Given the description of an element on the screen output the (x, y) to click on. 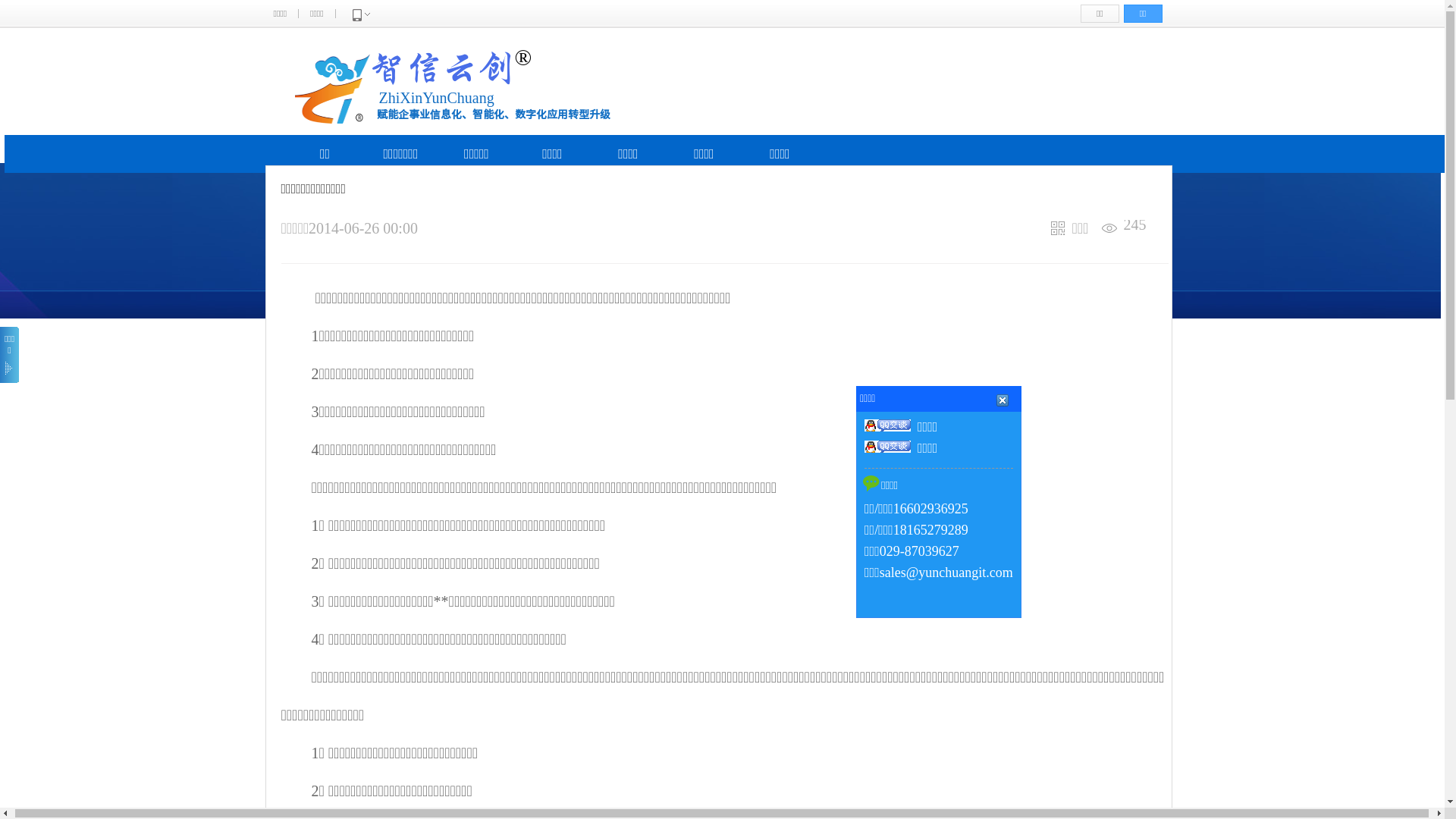
  Element type: text (1073, 465)
